Given the description of an element on the screen output the (x, y) to click on. 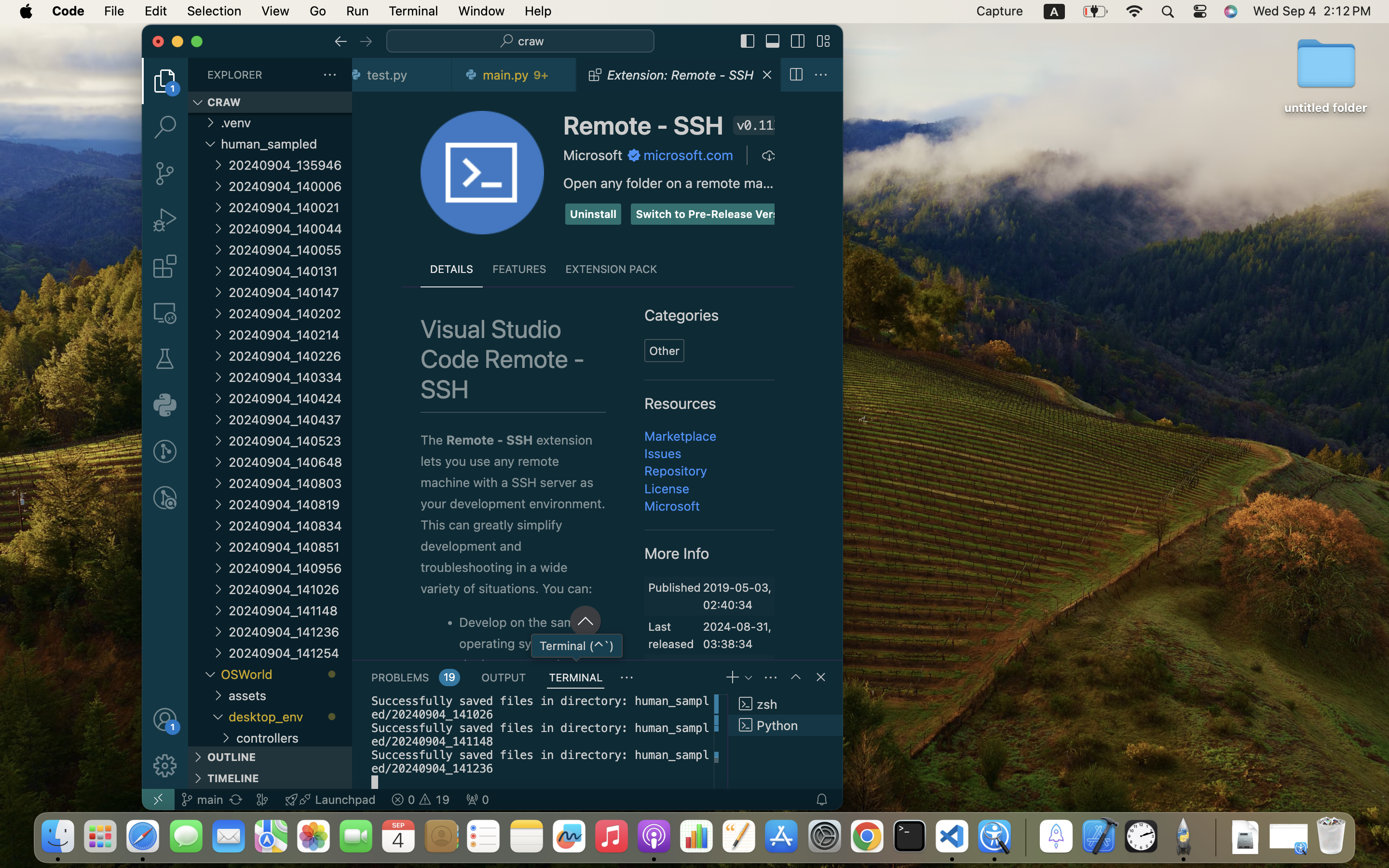
20240904_140044 Element type: AXGroup (290, 228)
20240904_141148 Element type: AXGroup (290, 610)
CRAW  Element type: AXButton (270, 101)
20240904_140006 Element type: AXGroup (290, 185)
OUTLINE  Element type: AXButton (270, 756)
